Given the description of an element on the screen output the (x, y) to click on. 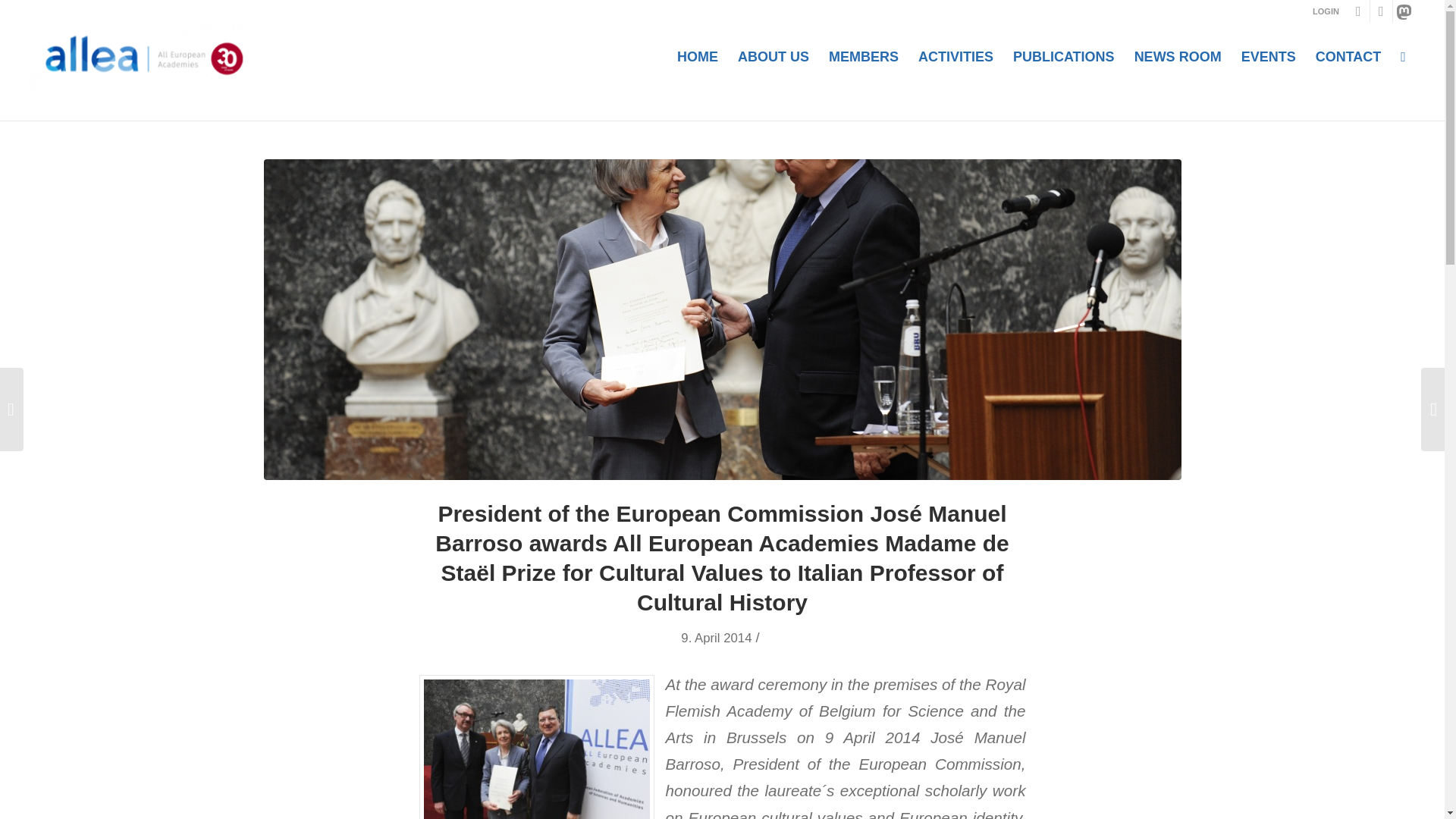
ACTIVITIES (955, 56)
LOGIN (1326, 10)
Mastodon (1404, 11)
ALLEA (842, 105)
Permanent Link: Blog - Latest News (314, 104)
ABOUT US (773, 56)
Youtube (1359, 11)
MEMBERS (863, 56)
LinkedIn (1380, 11)
